Given the description of an element on the screen output the (x, y) to click on. 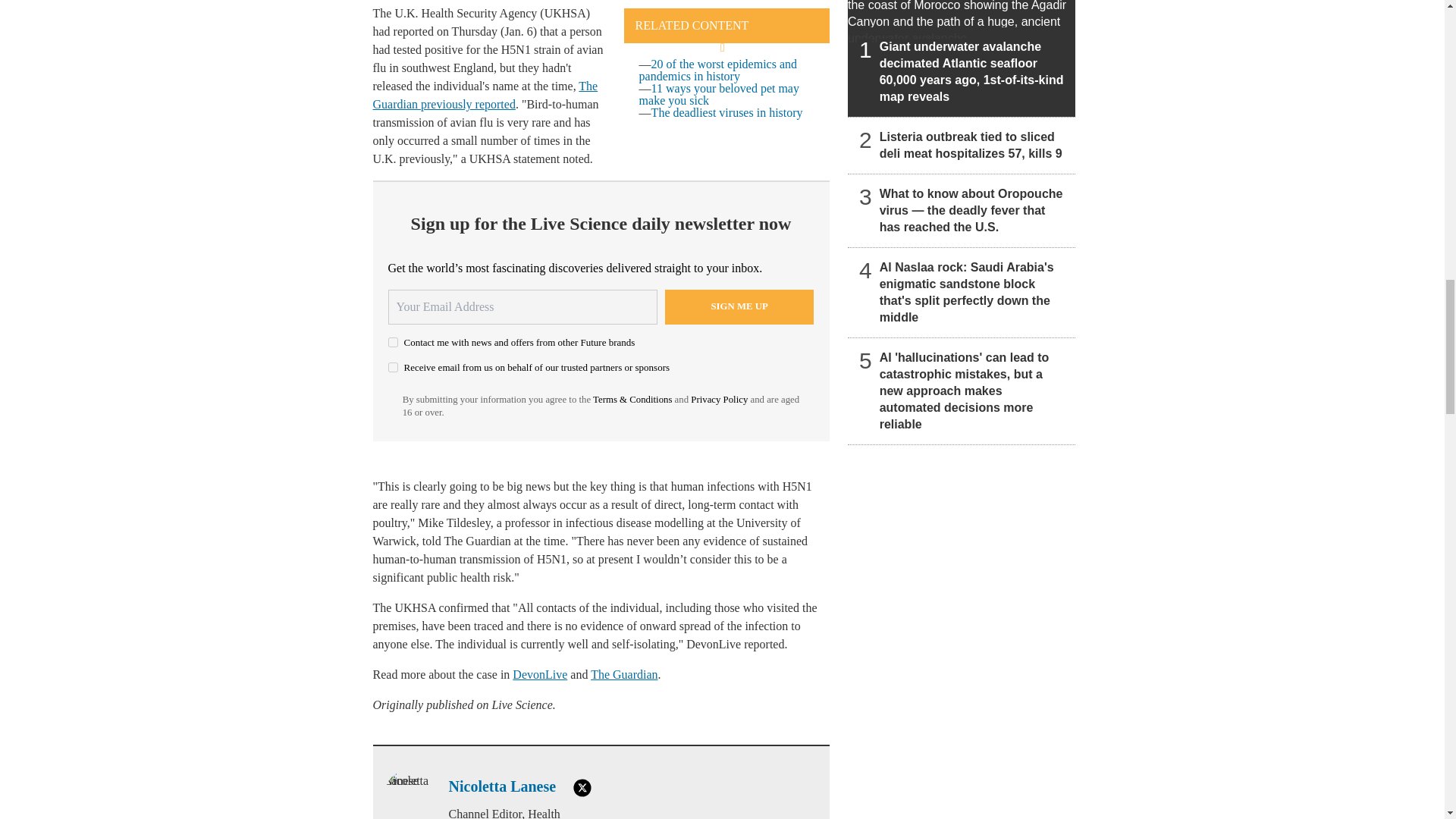
on (392, 367)
Sign me up (739, 306)
on (392, 342)
